Given the description of an element on the screen output the (x, y) to click on. 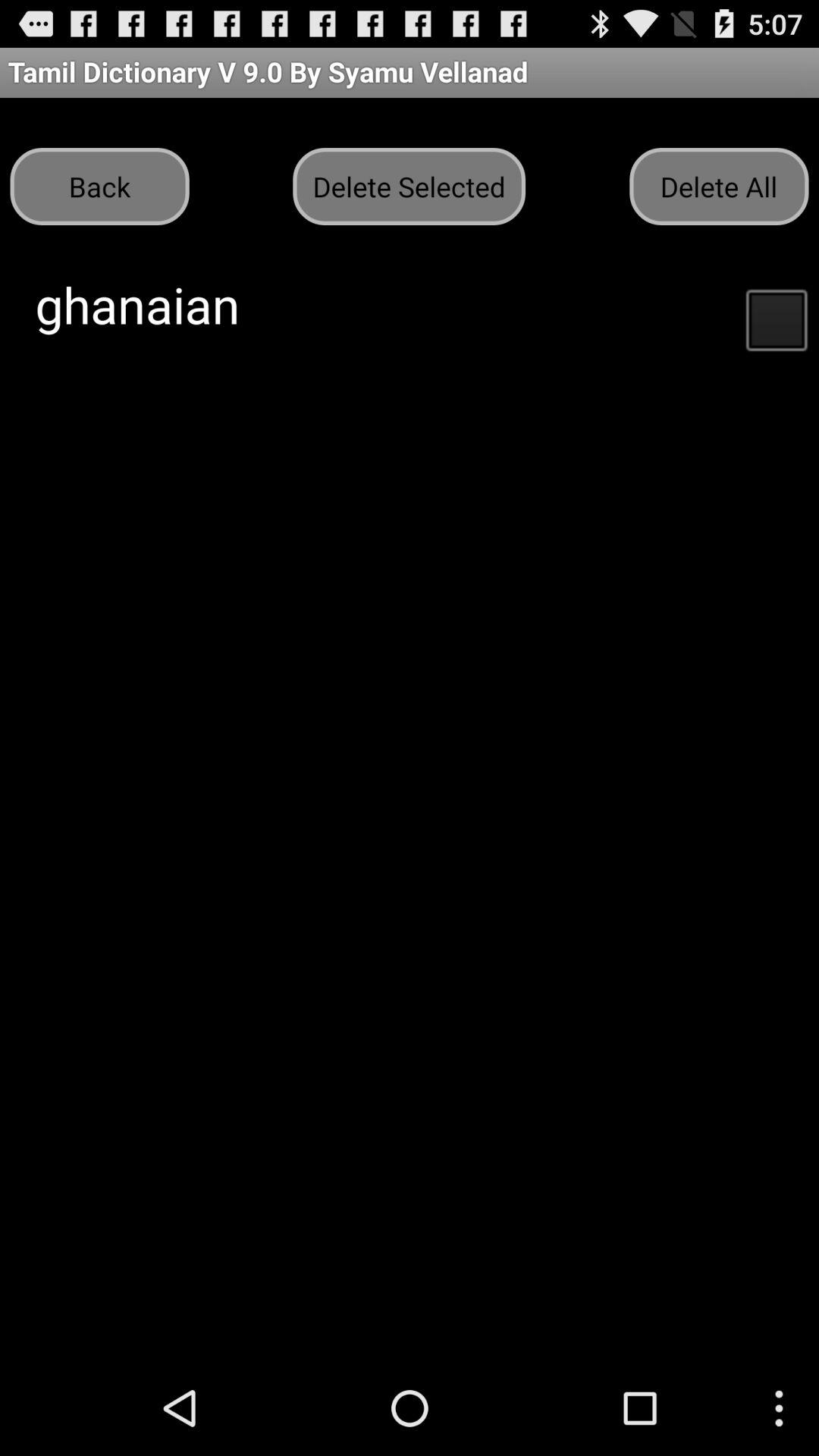
open item to the left of the delete selected (99, 186)
